Given the description of an element on the screen output the (x, y) to click on. 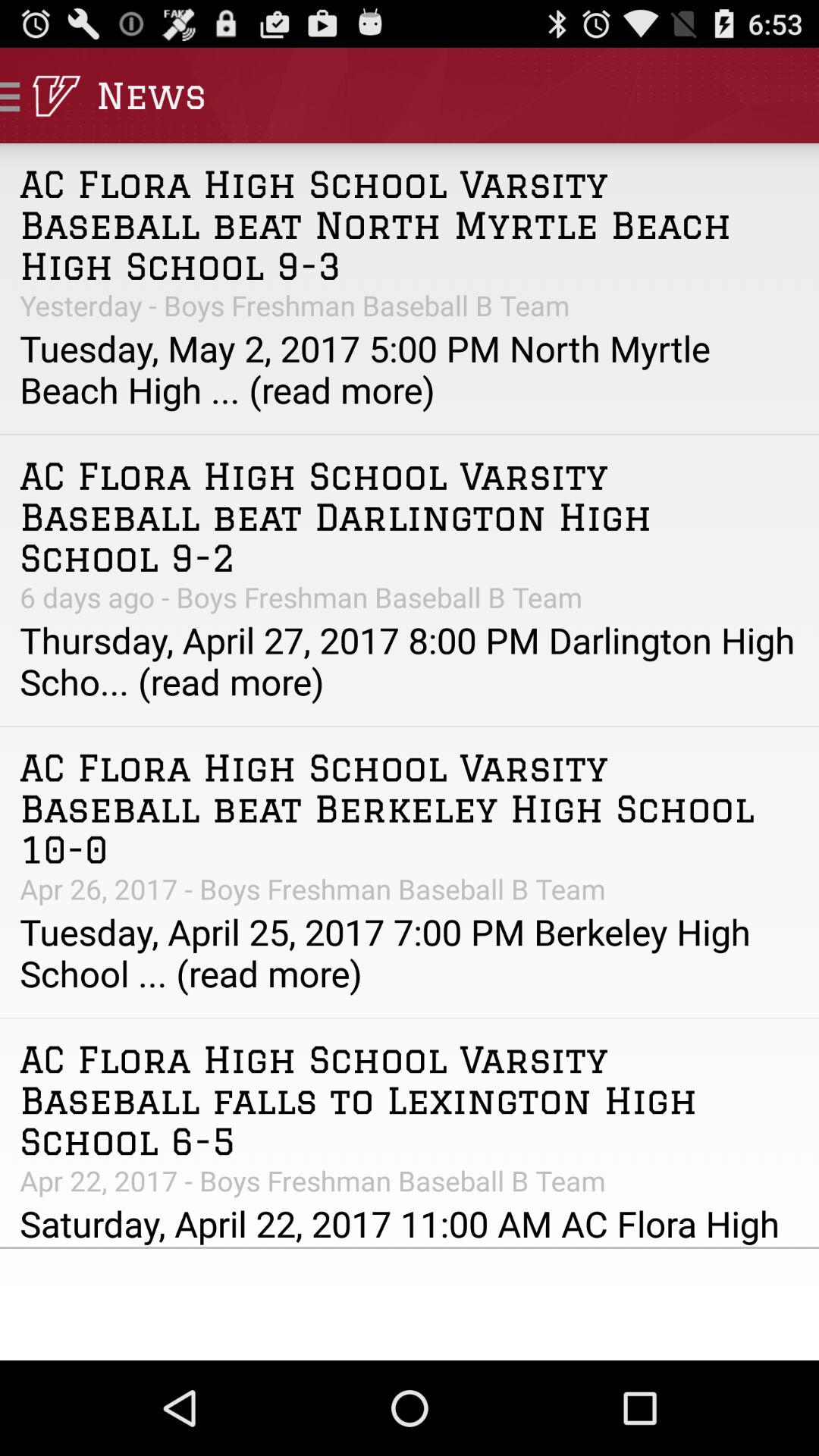
click item below the ac flora high (409, 596)
